Given the description of an element on the screen output the (x, y) to click on. 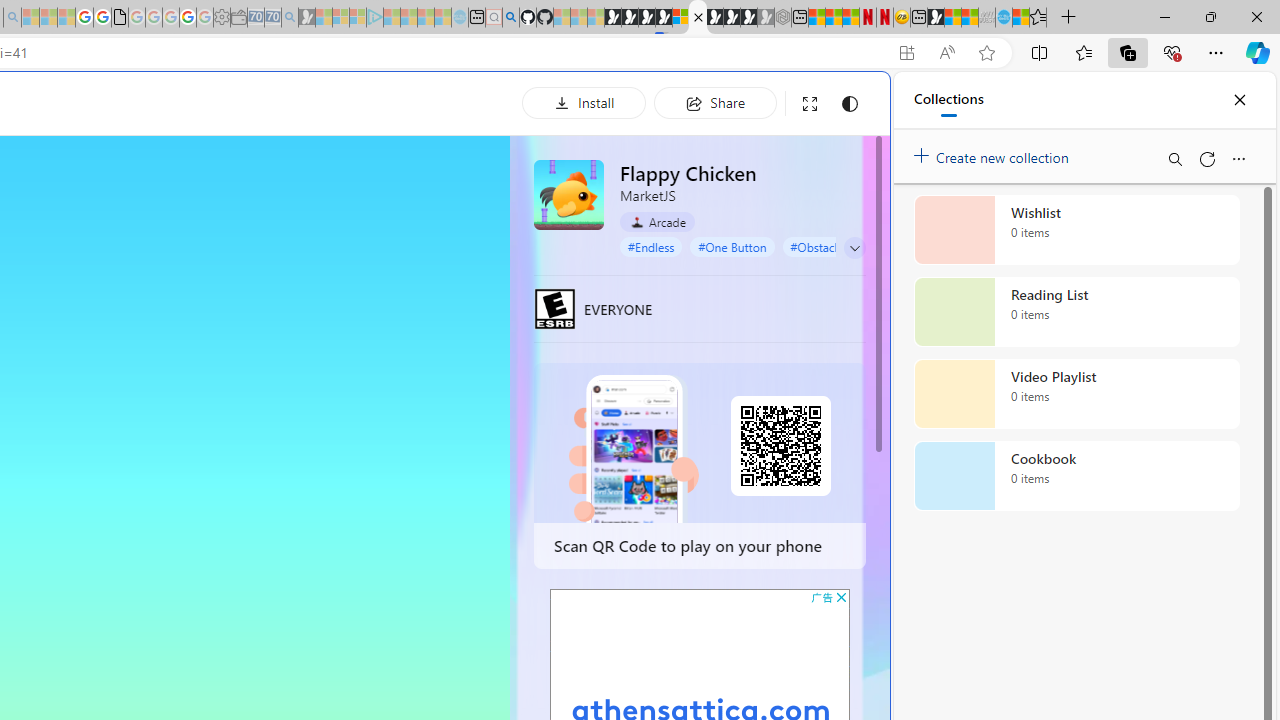
#Obstacle Course (837, 246)
Create new collection (994, 153)
